Given the description of an element on the screen output the (x, y) to click on. 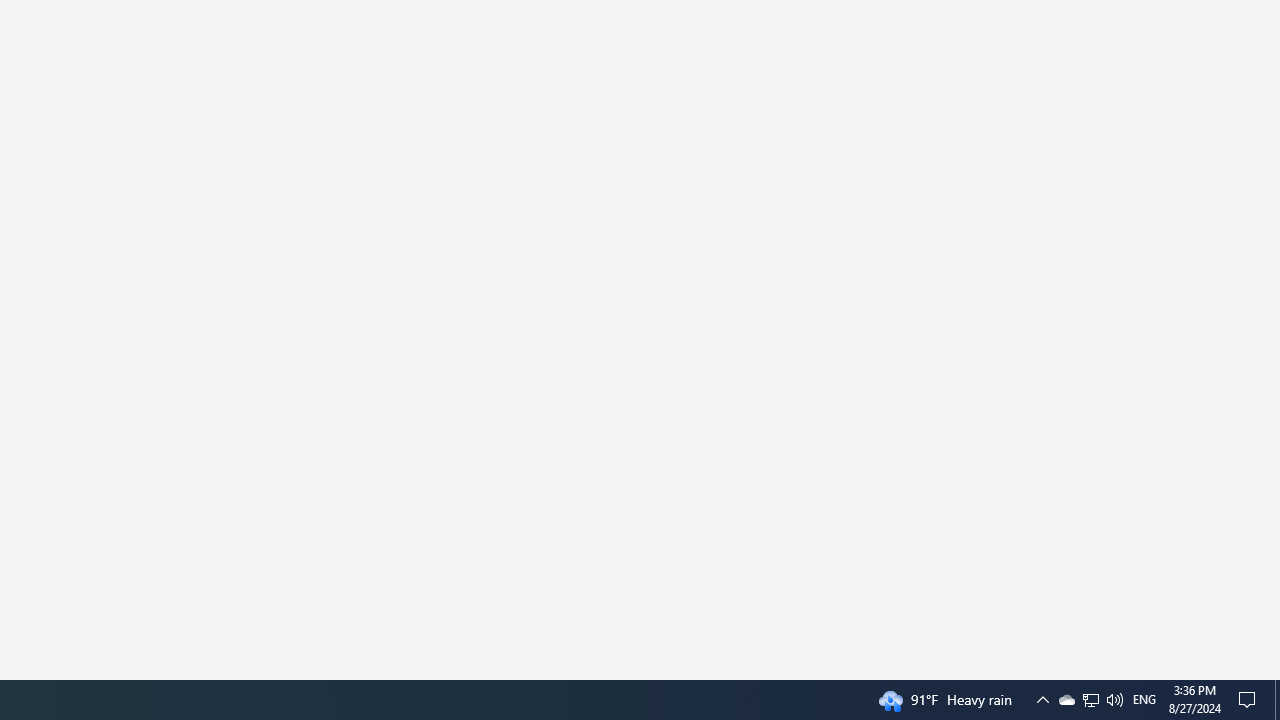
Action Center, No new notifications (1250, 699)
Show desktop (1277, 699)
Vertical Small Increase (1066, 699)
Notification Chevron (1272, 672)
User Promoted Notification Area (1042, 699)
Tray Input Indicator - English (United States) (1090, 699)
Q2790: 100% (1144, 699)
